Given the description of an element on the screen output the (x, y) to click on. 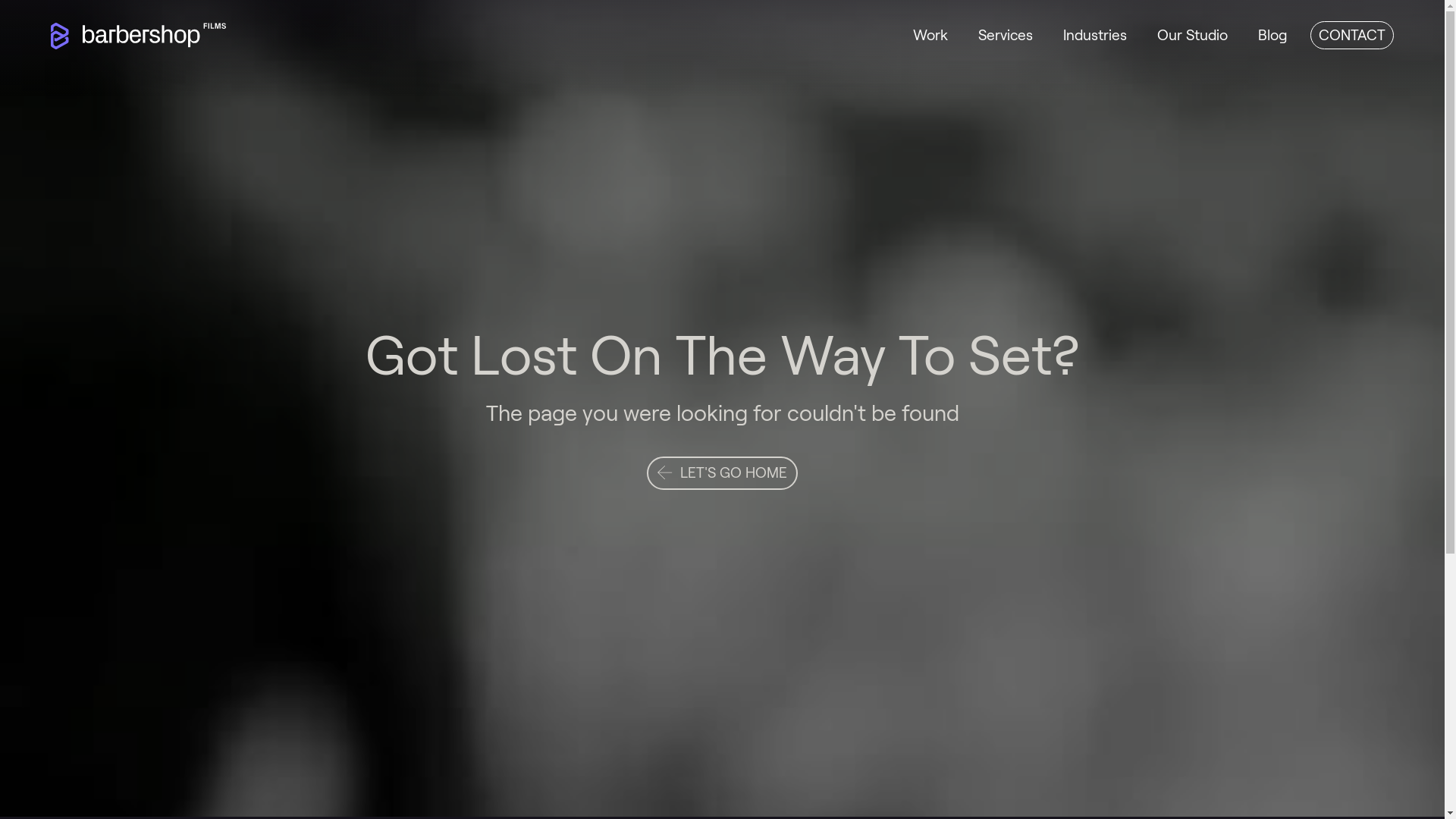
Blog Element type: text (1272, 35)
CONTACT Element type: text (1351, 35)
Services Element type: text (1005, 35)
Industries Element type: text (1095, 35)
LET'S GO HOME Element type: text (721, 472)
Our Studio Element type: text (1192, 35)
Work Element type: text (930, 35)
